Given the description of an element on the screen output the (x, y) to click on. 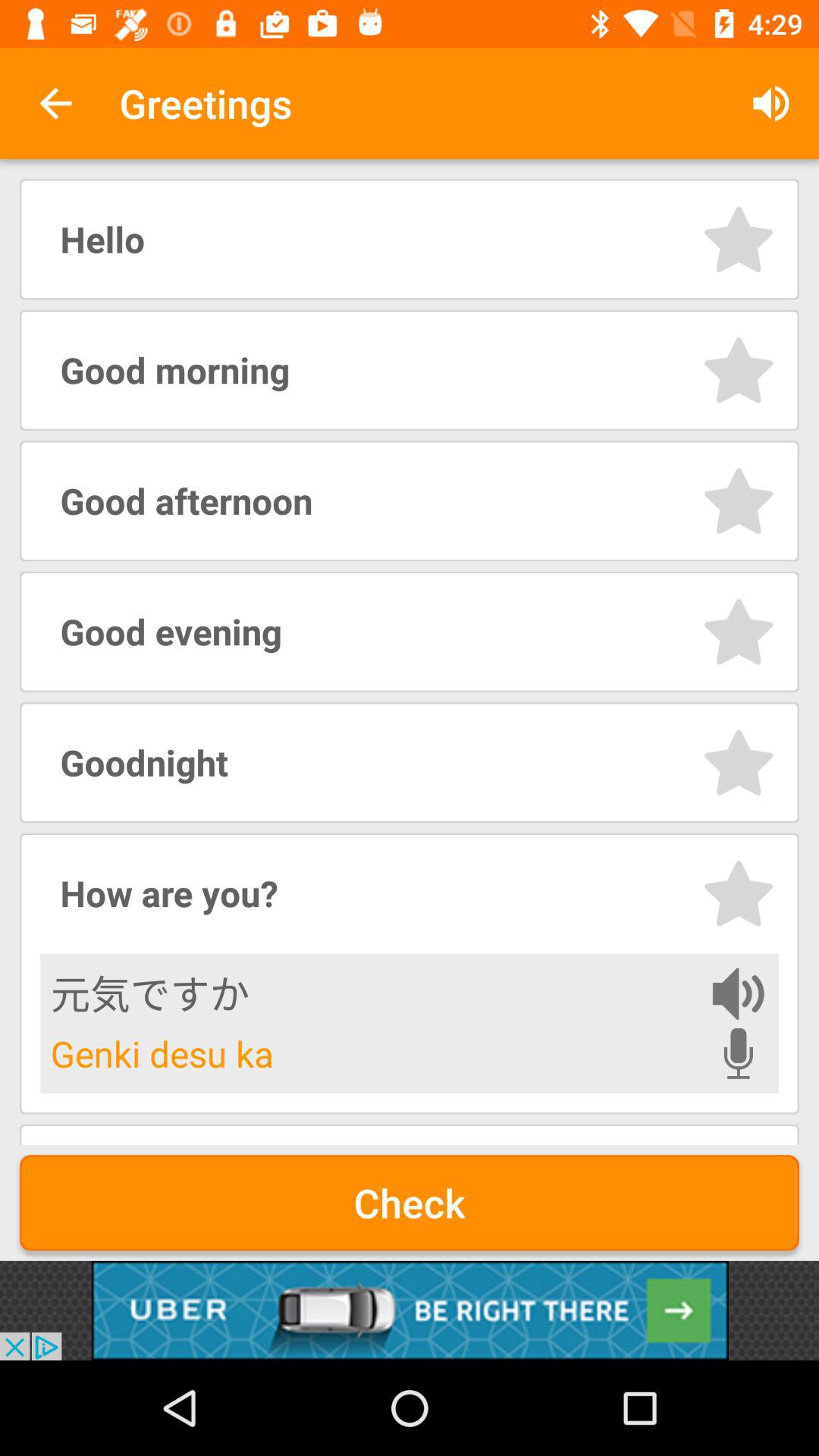
favorite a phrase (738, 893)
